Given the description of an element on the screen output the (x, y) to click on. 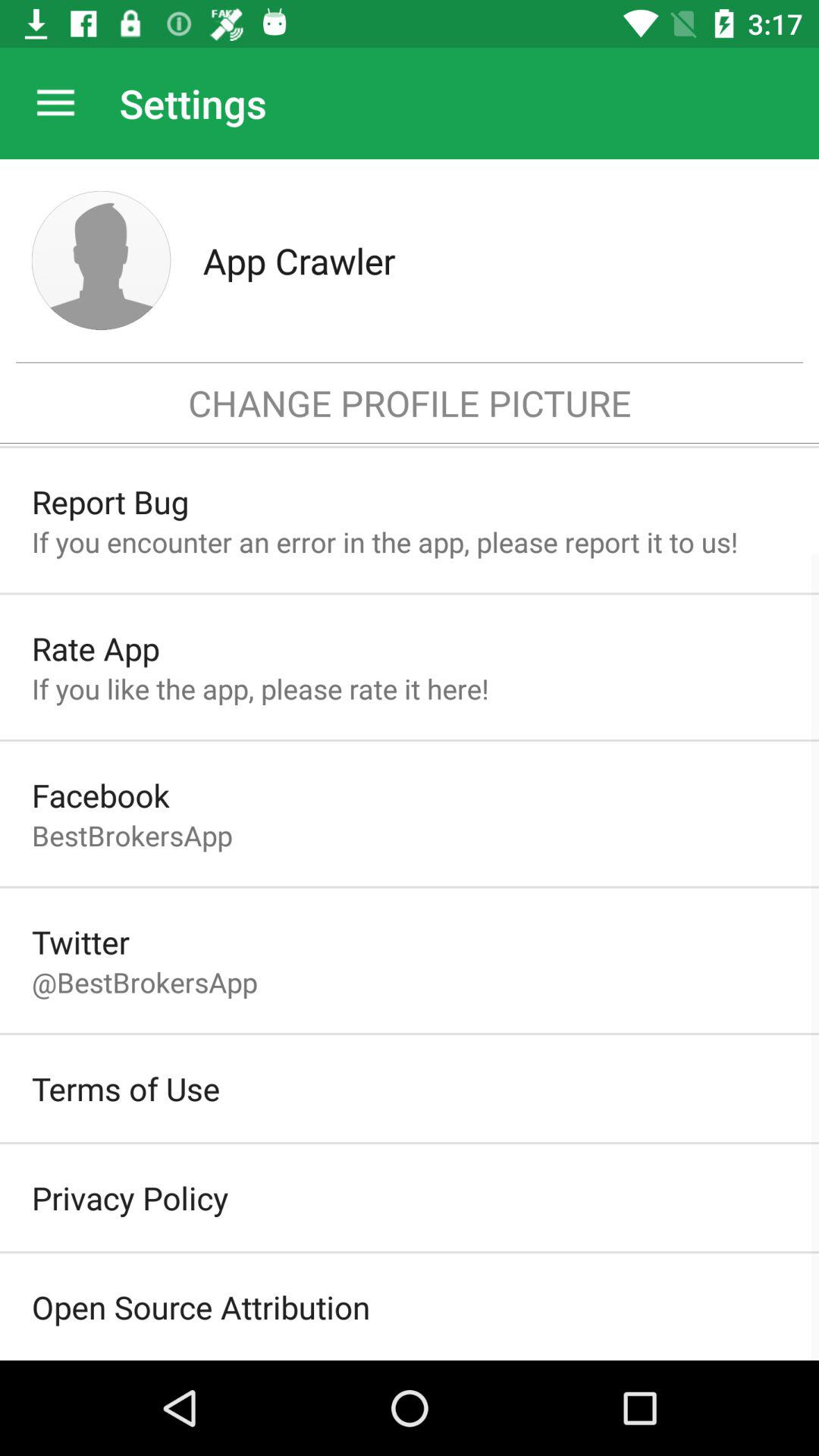
turn off the icon below the bestbrokersapp icon (80, 941)
